Given the description of an element on the screen output the (x, y) to click on. 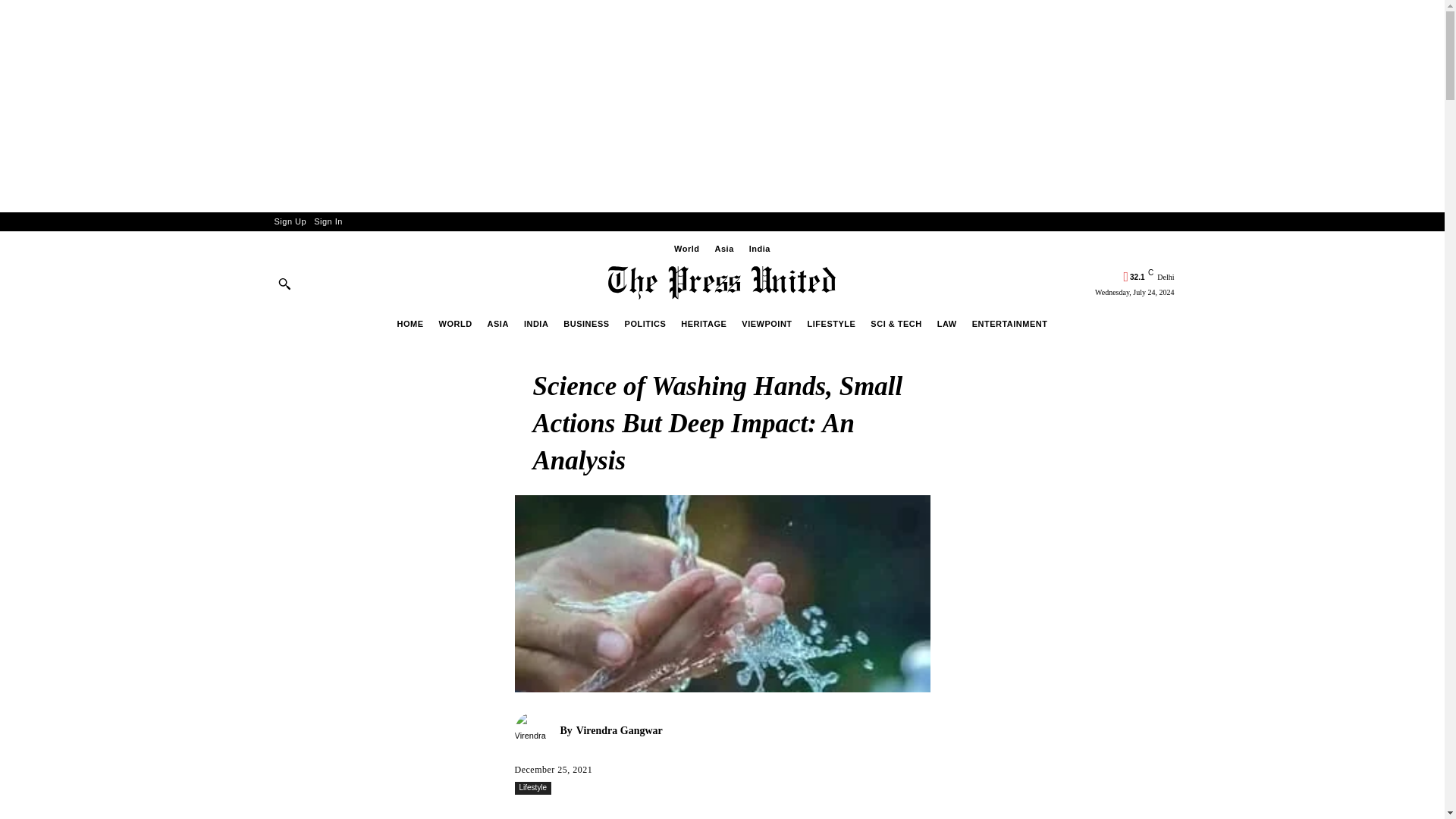
Virendra Gangwar (536, 730)
HOME (410, 323)
LIFESTYLE (831, 323)
Sign In (328, 221)
Sign Up (289, 221)
VIEWPOINT (766, 323)
ENTERTAINMENT (1009, 323)
INDIA (535, 323)
POLITICS (645, 323)
India (759, 248)
HERITAGE (703, 323)
ASIA (497, 323)
LAW (946, 323)
Asia (724, 248)
